Given the description of an element on the screen output the (x, y) to click on. 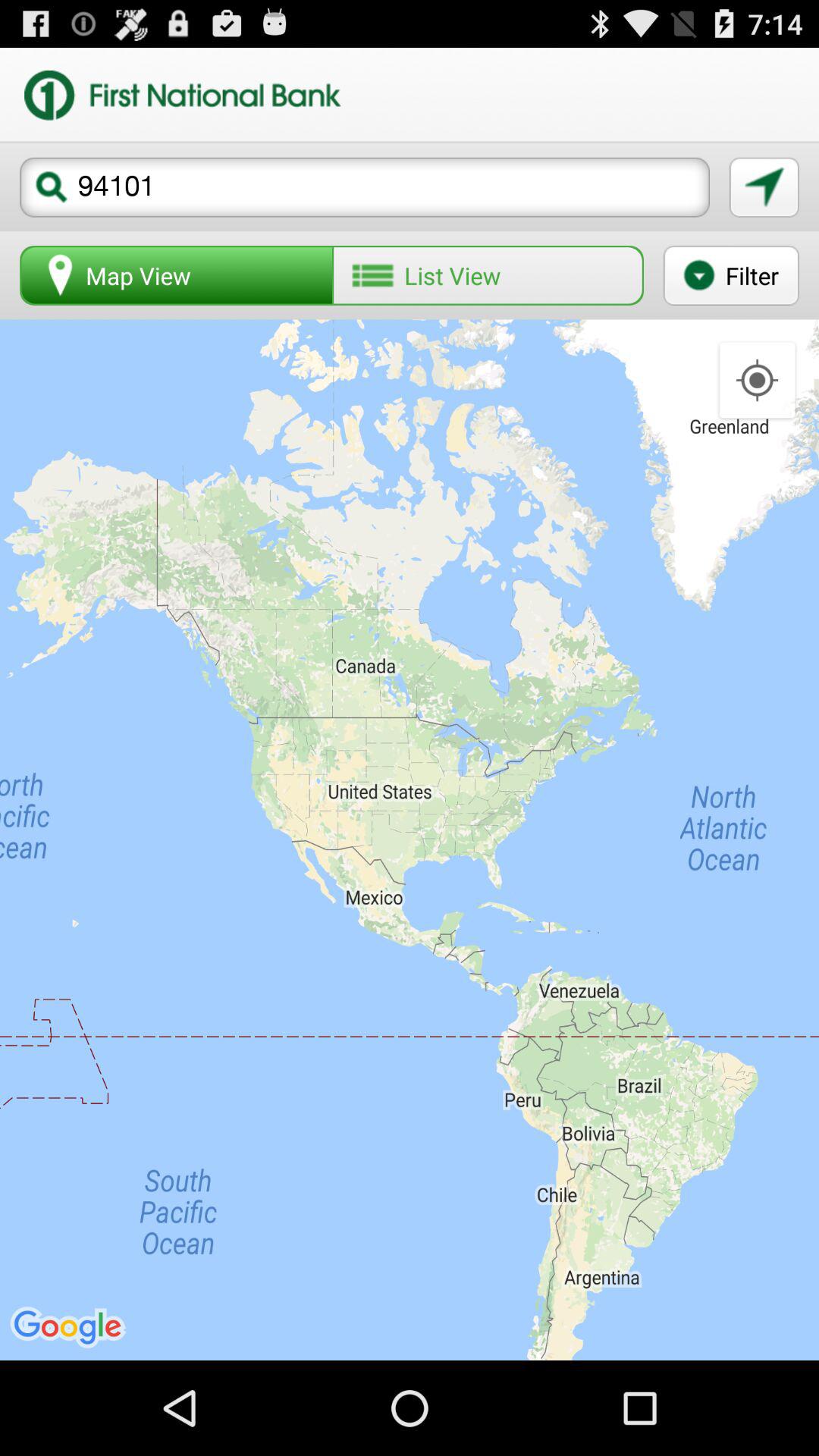
tap button to the right of map view button (487, 275)
